Given the description of an element on the screen output the (x, y) to click on. 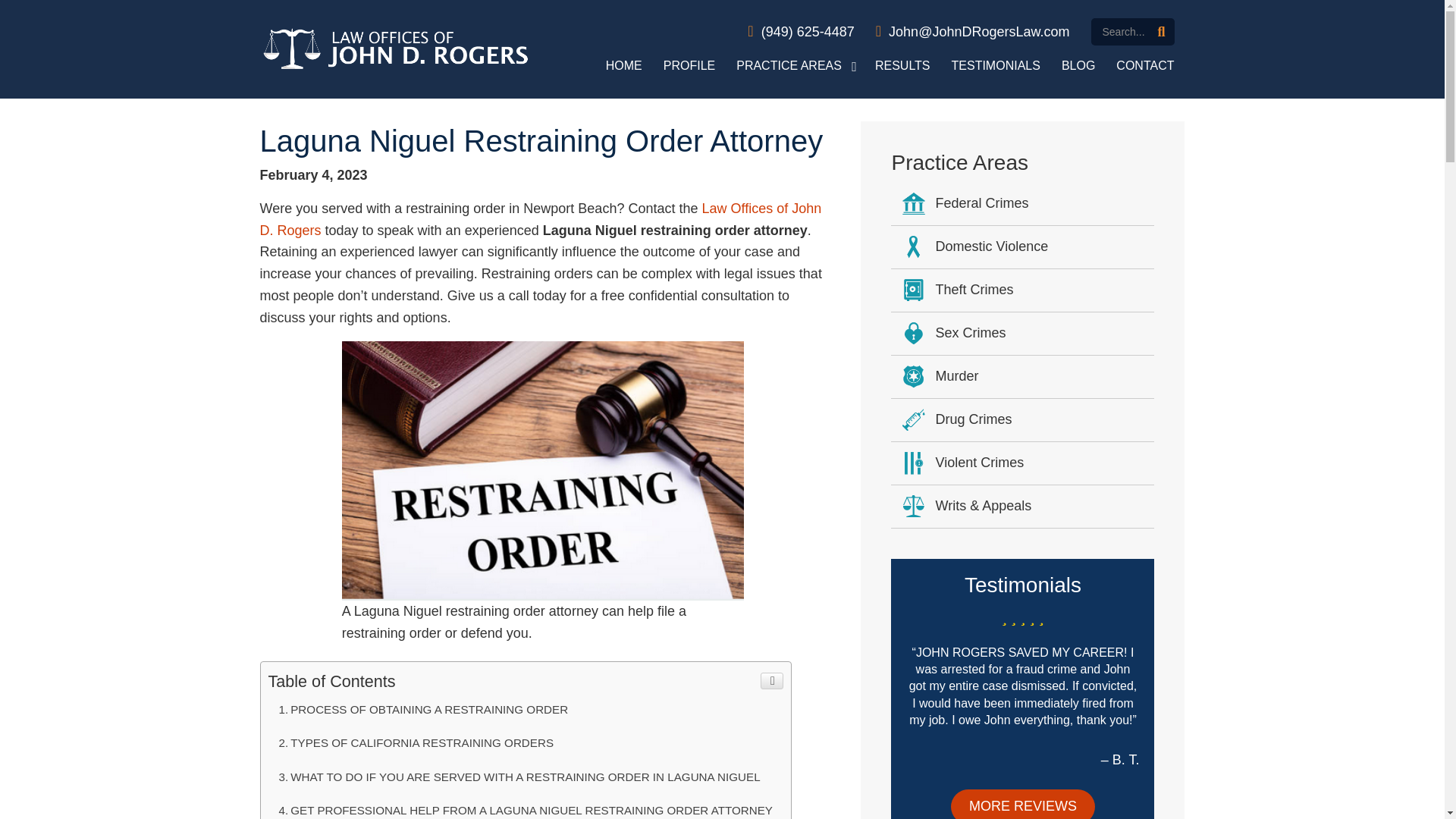
PRACTICE AREAS (794, 65)
HOME (623, 65)
RESULTS (902, 65)
CONTACT (1145, 65)
PROCESS OF OBTAINING A RESTRAINING ORDER (525, 709)
Search (1131, 31)
TESTIMONIALS (995, 65)
Law Offices of John D. Rogers (540, 219)
Types of California Restraining Orders (525, 743)
PROFILE (688, 65)
BLOG (1078, 65)
Process of Obtaining a Restraining Order (525, 709)
